Given the description of an element on the screen output the (x, y) to click on. 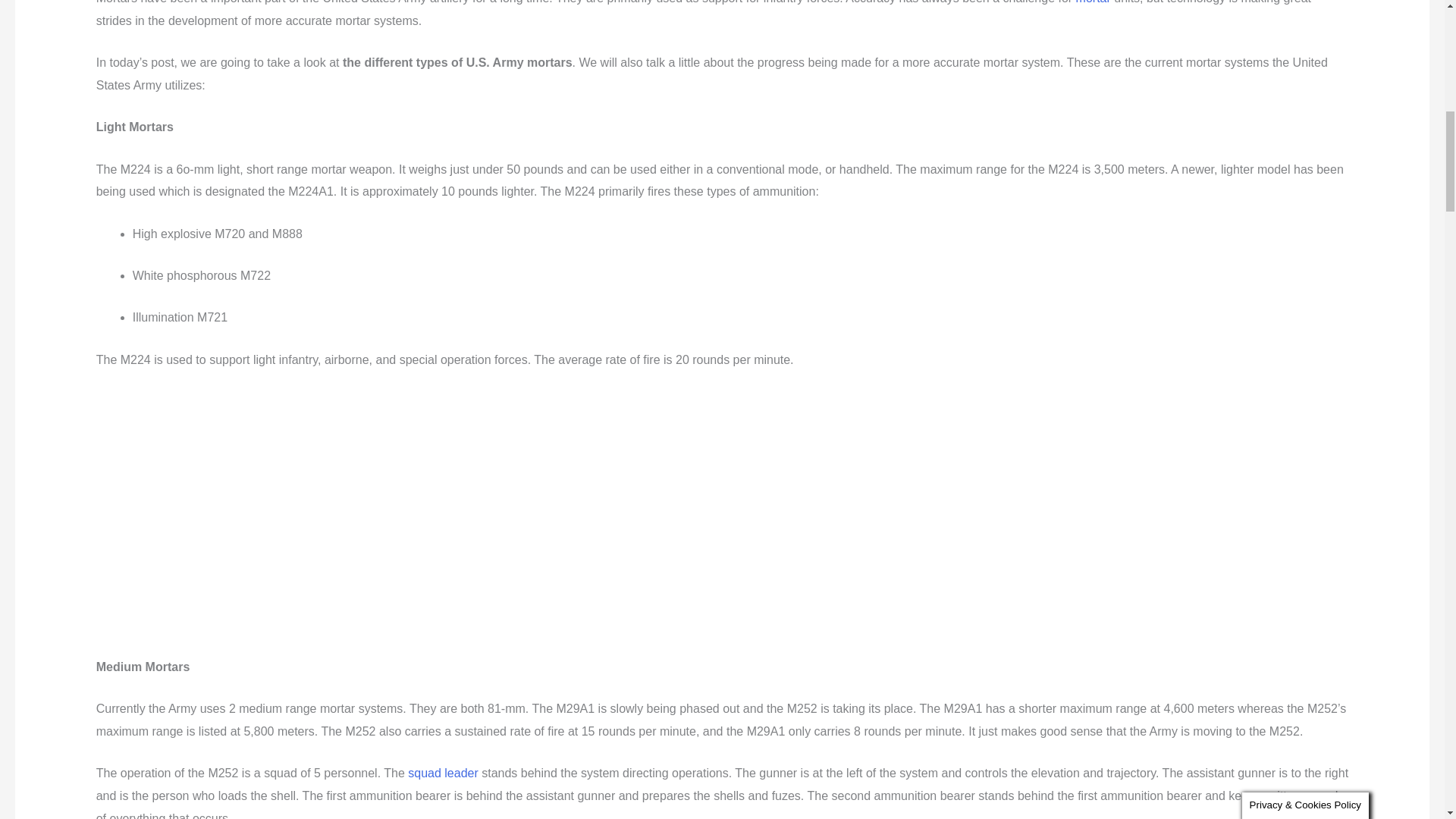
mortar (1092, 2)
squad leader (443, 772)
